Given the description of an element on the screen output the (x, y) to click on. 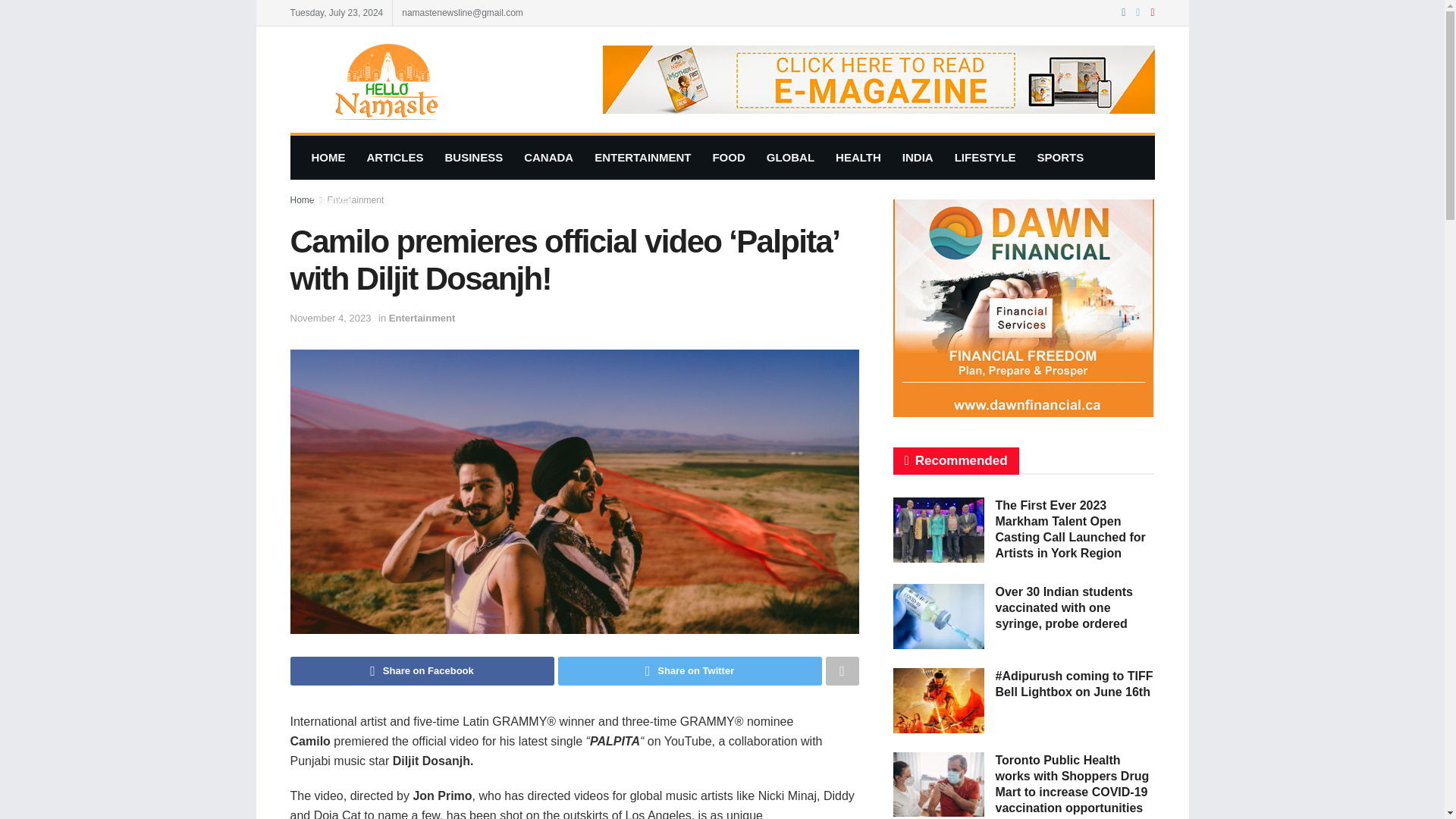
HOME (327, 157)
GLOBAL (790, 157)
SPORTS (1060, 157)
Share on Twitter (689, 670)
BUSINESS (473, 157)
Entertainment (421, 317)
FOOD (728, 157)
LIFESTYLE (984, 157)
Share on Facebook (421, 670)
HEALTH (858, 157)
CANADA (548, 157)
ENTERTAINMENT (642, 157)
November 4, 2023 (330, 317)
ARTICLES (394, 157)
INDIA (917, 157)
